Given the description of an element on the screen output the (x, y) to click on. 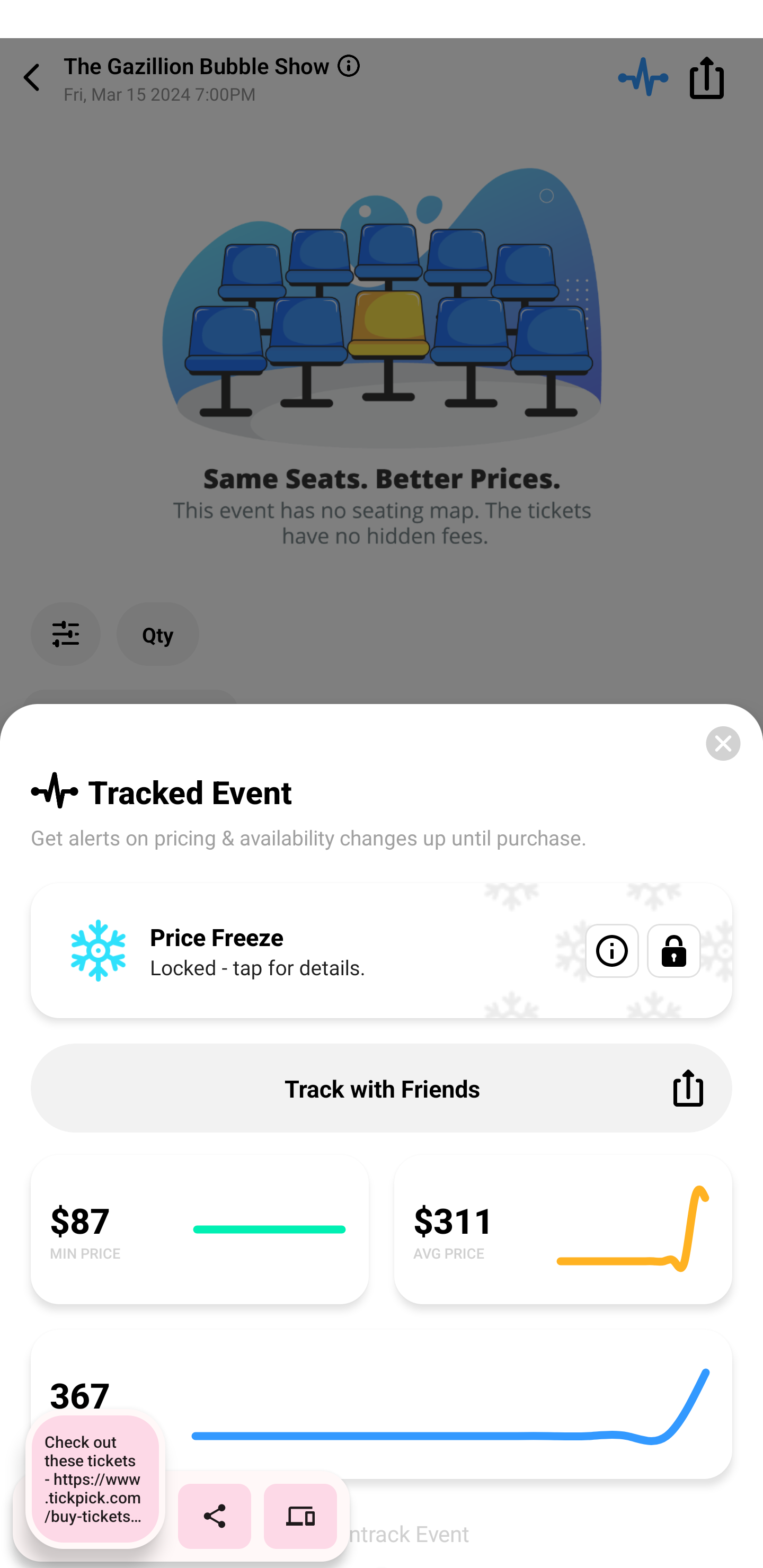
Track with Friends (381, 1088)
